Given the description of an element on the screen output the (x, y) to click on. 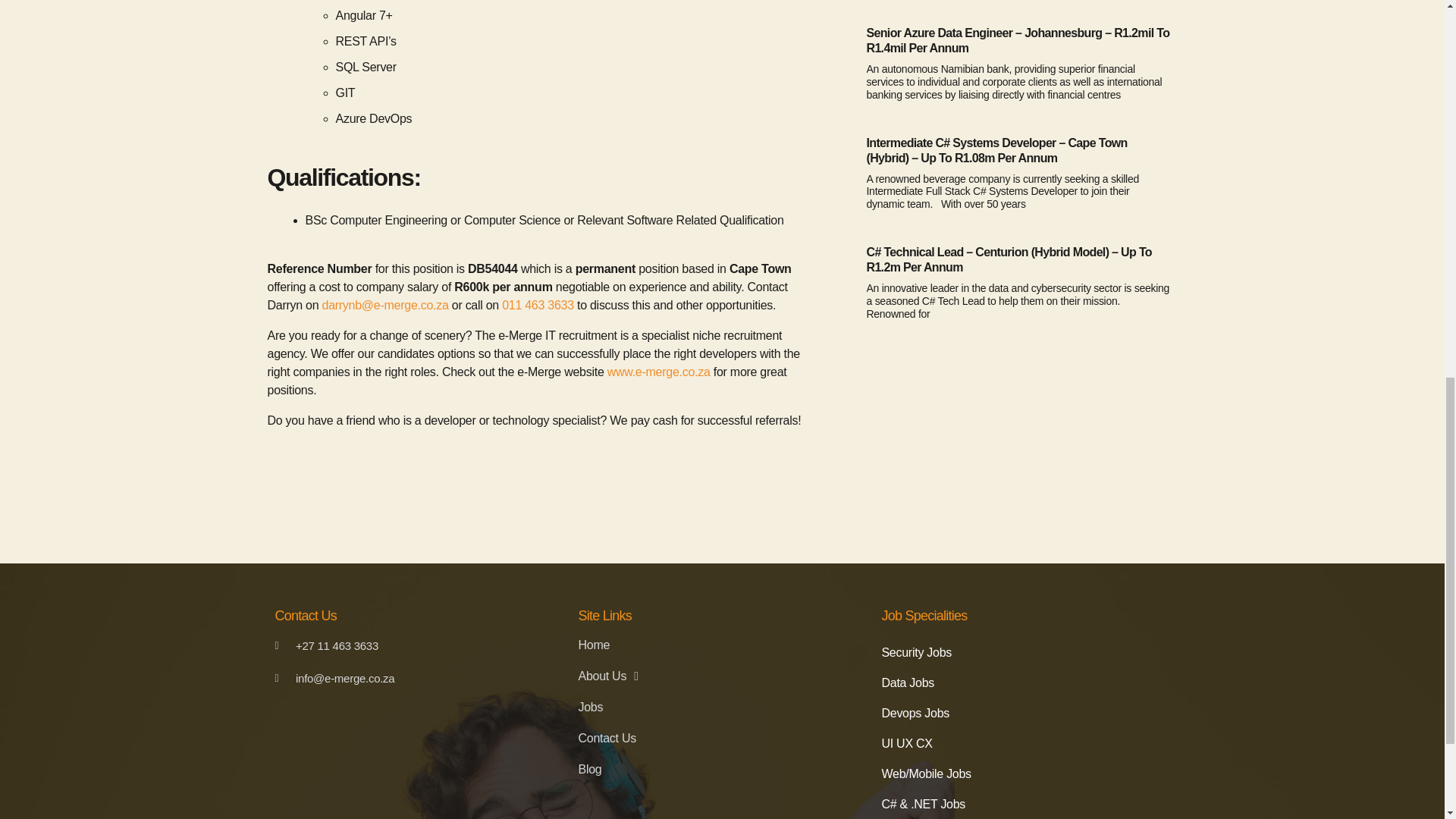
www.e-merge.co.za (658, 371)
Blog (722, 769)
Jobs (722, 707)
About Us (722, 676)
Contact Us (722, 738)
011 463 3633 (536, 305)
Home (722, 645)
